Given the description of an element on the screen output the (x, y) to click on. 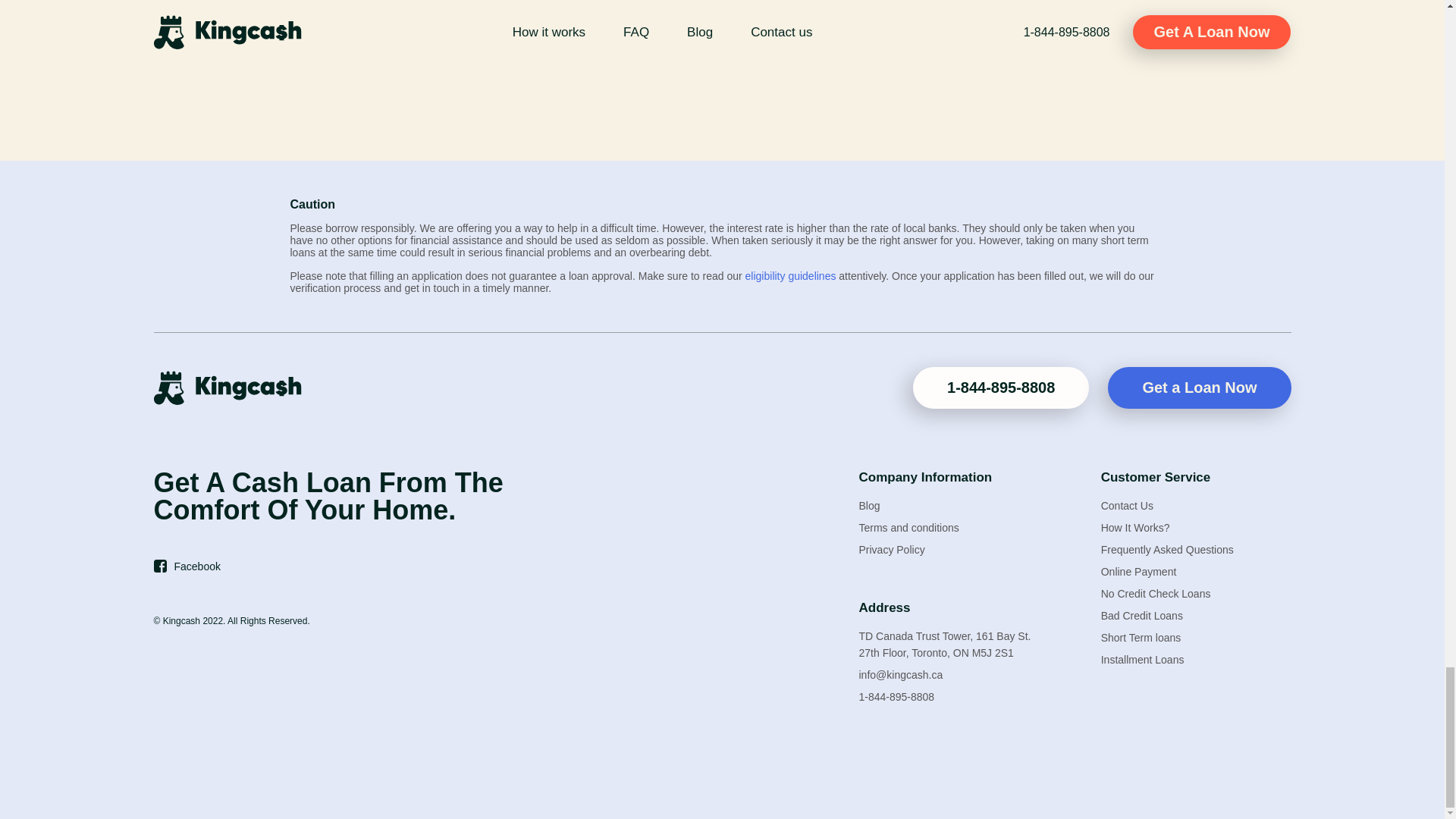
1-844-895-8808 (1000, 387)
Facebook (188, 565)
Blog (869, 505)
eligibility guidelines (790, 275)
Get a Loan Now (1199, 387)
Terms and conditions (908, 527)
Facebook (188, 565)
Home page (226, 387)
Privacy Policy (891, 549)
